Given the description of an element on the screen output the (x, y) to click on. 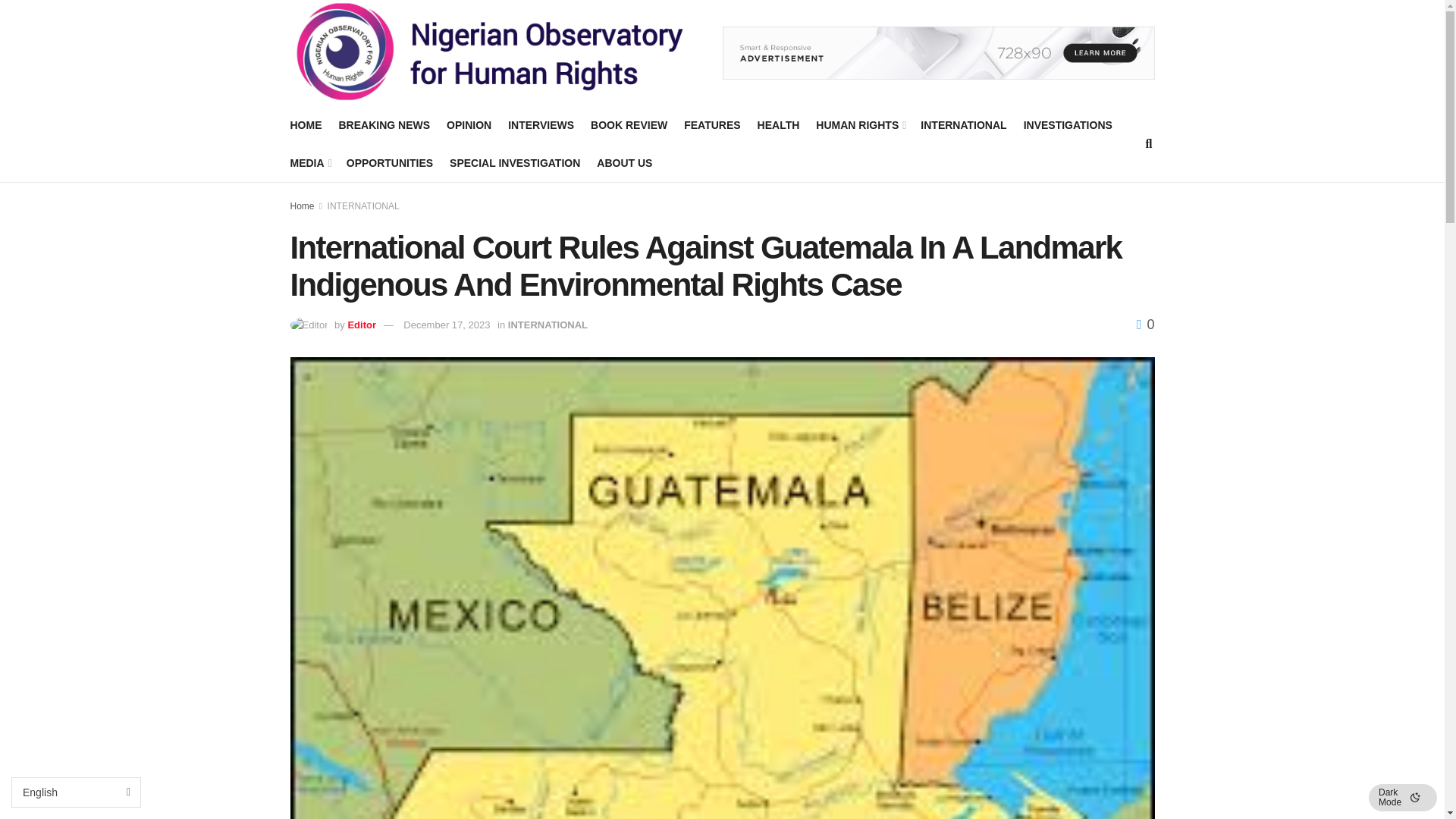
MEDIA (309, 162)
FEATURES (711, 124)
INTERNATIONAL (963, 124)
BOOK REVIEW (628, 124)
INTERVIEWS (540, 124)
INVESTIGATIONS (1067, 124)
ABOUT US (624, 162)
HOME (305, 124)
OPINION (469, 124)
BREAKING NEWS (383, 124)
HUMAN RIGHTS (859, 124)
HEALTH (778, 124)
SPECIAL INVESTIGATION (514, 162)
OPPORTUNITIES (389, 162)
